Given the description of an element on the screen output the (x, y) to click on. 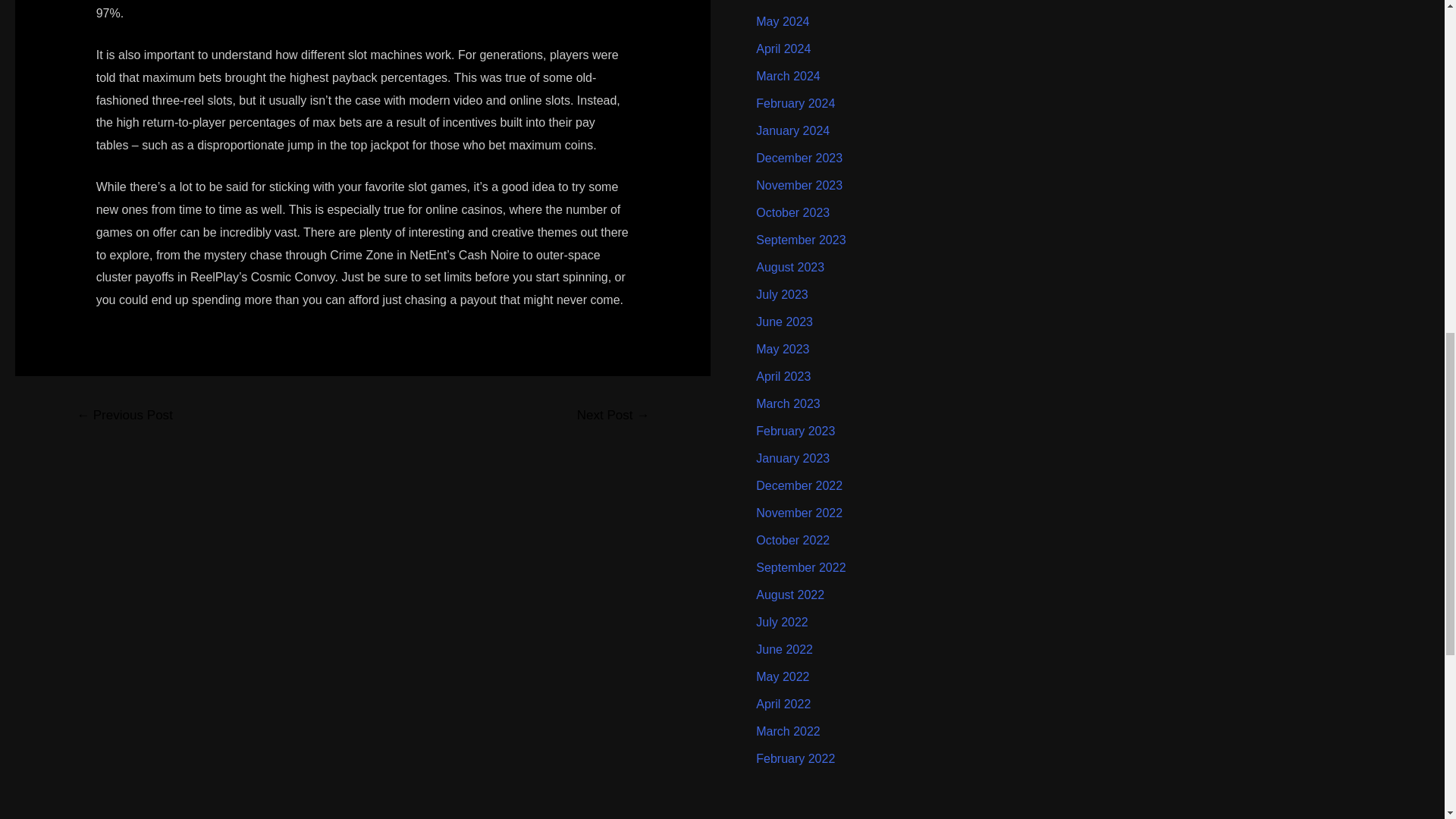
May 2023 (782, 349)
March 2024 (788, 75)
November 2023 (799, 185)
December 2023 (799, 157)
January 2024 (792, 130)
February 2024 (794, 103)
May 2024 (782, 21)
March 2023 (788, 403)
September 2023 (800, 239)
June 2024 (783, 0)
June 2023 (783, 321)
April 2023 (782, 376)
August 2023 (789, 267)
October 2023 (792, 212)
April 2024 (782, 48)
